Given the description of an element on the screen output the (x, y) to click on. 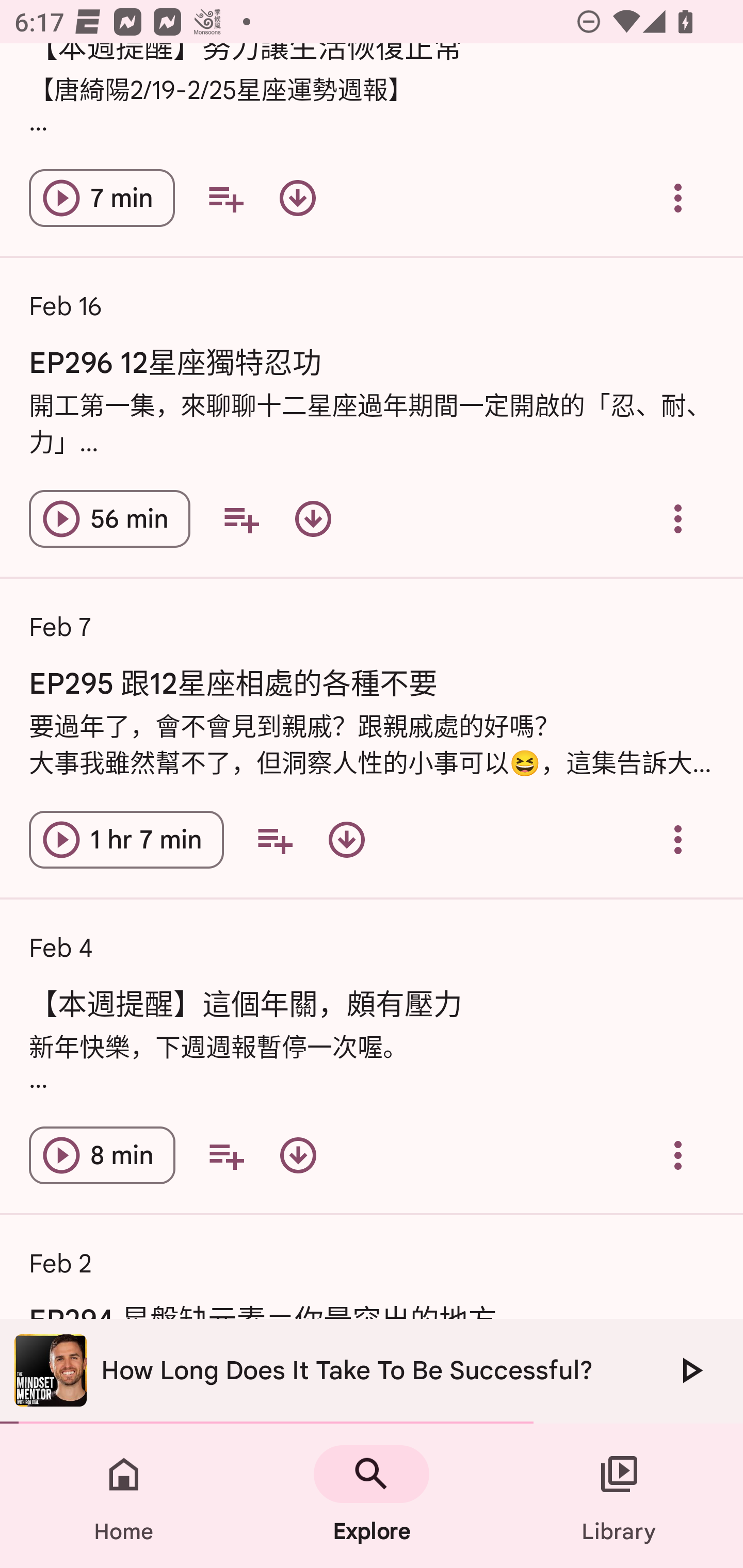
Play episode 【本週提醒】努力讓生活恢復正常 7 min (101, 198)
Add to your queue (225, 198)
Download episode (297, 198)
Overflow menu (677, 198)
Play episode EP296 12星座獨特忍功 56 min (109, 518)
Add to your queue (241, 518)
Download episode (313, 518)
Overflow menu (677, 518)
Play episode EP295 跟12星座相處的各種不要 1 hr 7 min (125, 839)
Add to your queue (274, 839)
Download episode (346, 839)
Overflow menu (677, 839)
Play episode 【本週提醒】這個年關，頗有壓力 8 min (101, 1154)
Add to your queue (226, 1154)
Download episode (298, 1154)
Overflow menu (677, 1154)
Play (690, 1370)
Home (123, 1495)
Library (619, 1495)
